Given the description of an element on the screen output the (x, y) to click on. 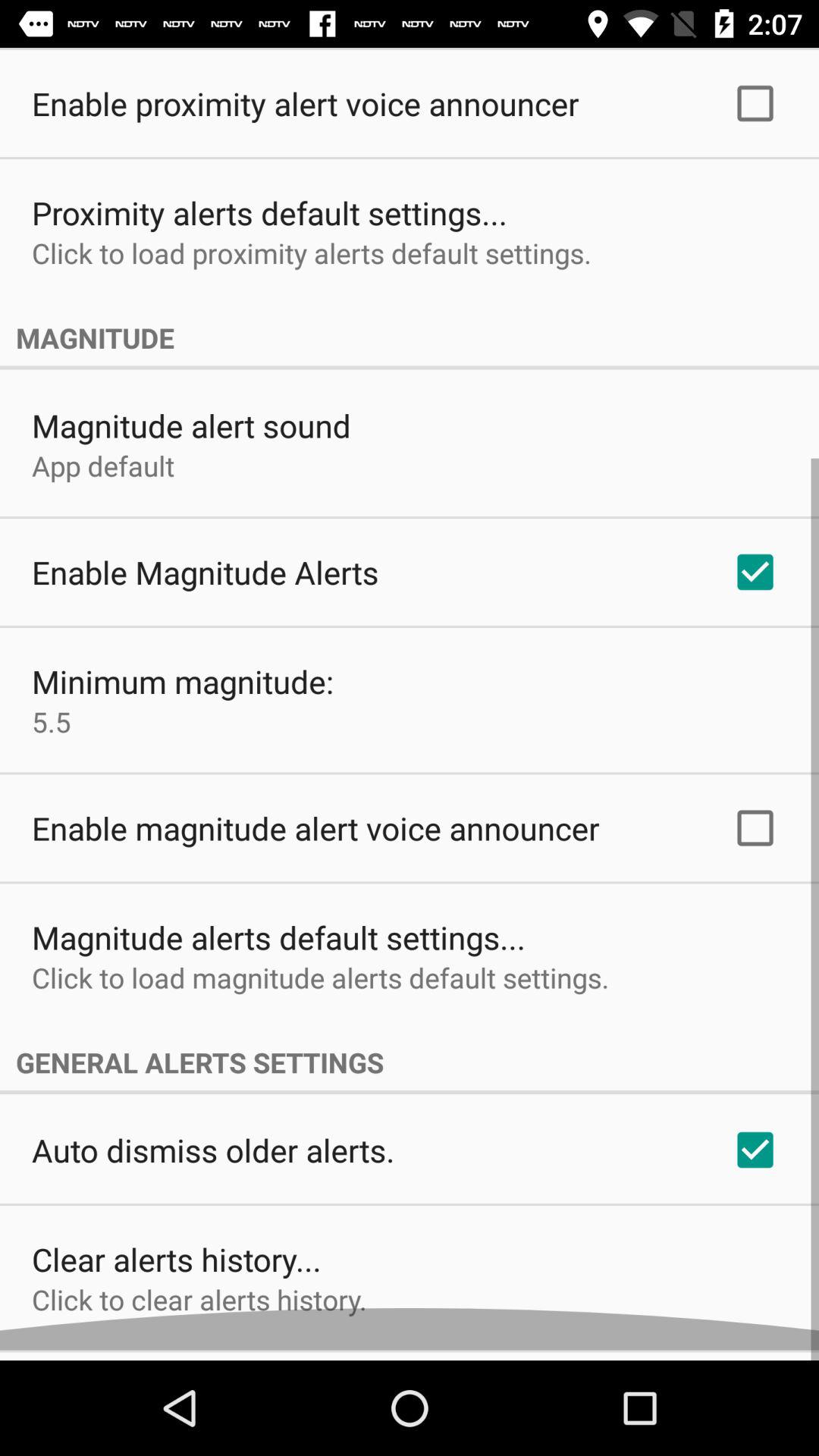
jump until the app default icon (102, 475)
